Given the description of an element on the screen output the (x, y) to click on. 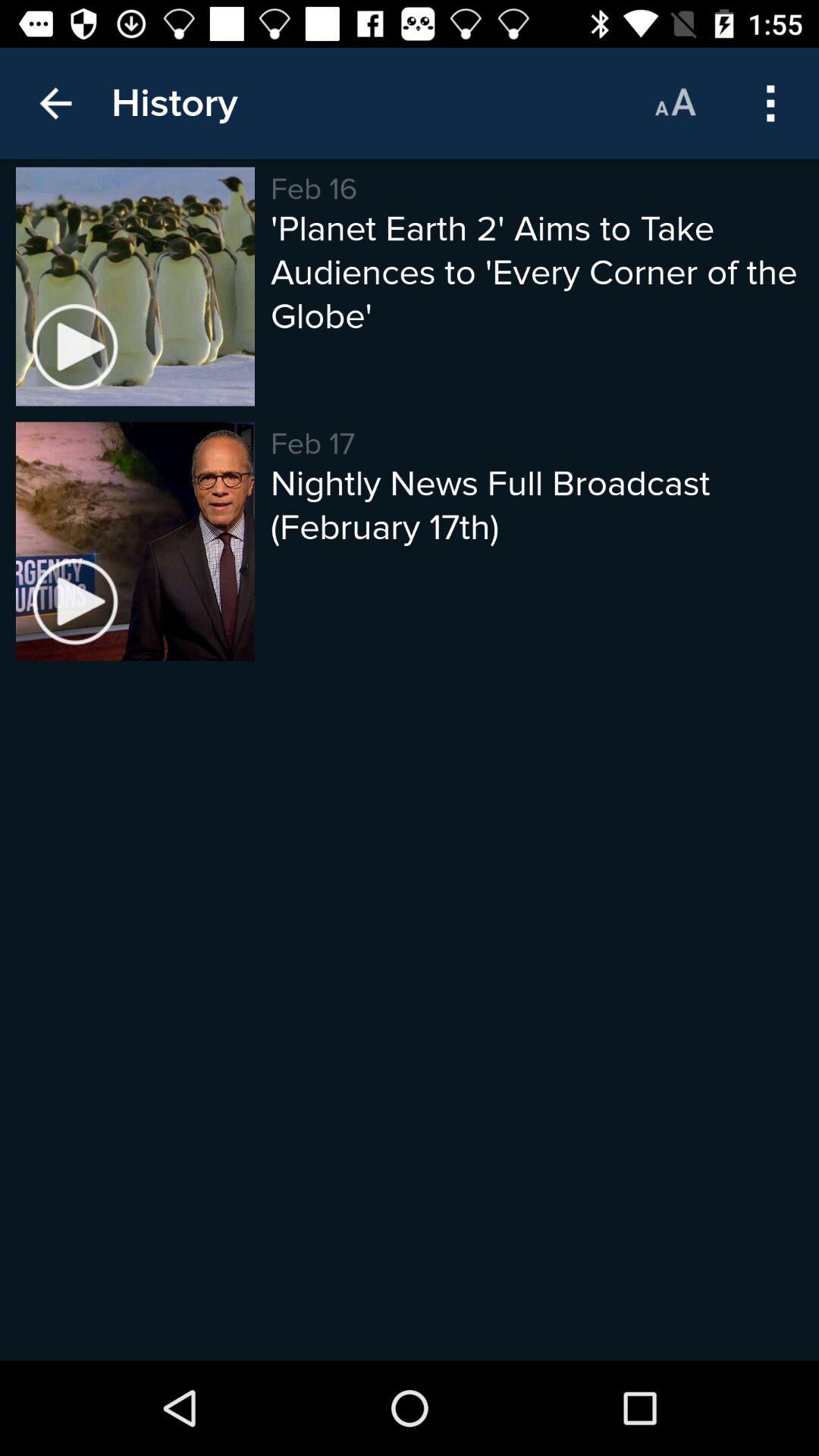
turn on item next to the feb 16 icon (174, 103)
